Given the description of an element on the screen output the (x, y) to click on. 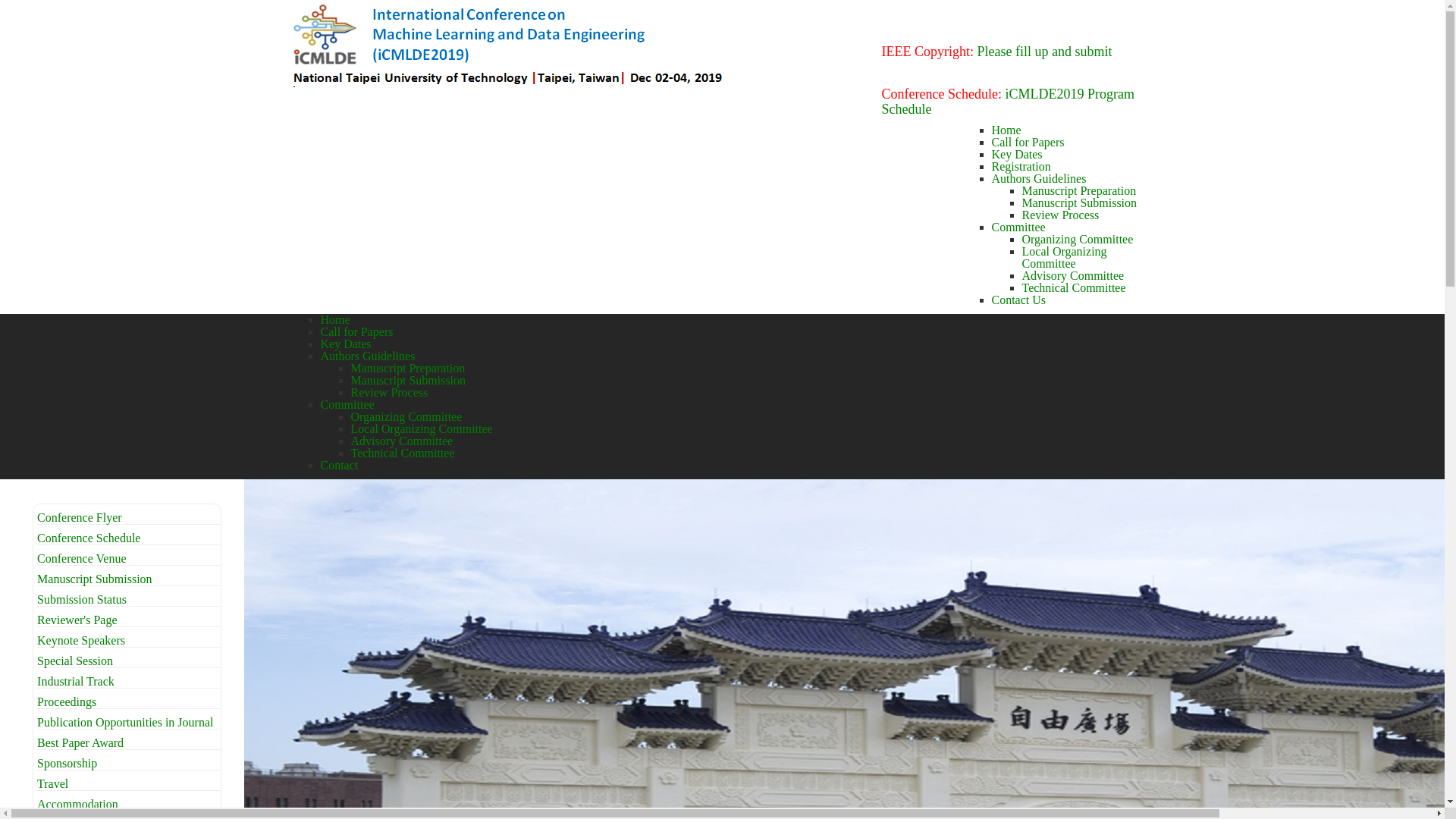
Advisory Committee Element type: text (1073, 275)
Reviewer's Page Element type: text (77, 619)
Registration Element type: text (1021, 166)
Call for Papers Element type: text (356, 331)
Technical Committee Element type: text (402, 452)
Contact Us Element type: text (1018, 299)
Manuscript Submission Element type: text (407, 379)
Industrial Track Element type: text (75, 680)
Manuscript Preparation Element type: text (407, 367)
Travel Element type: text (52, 783)
Proceedings Element type: text (66, 701)
Manuscript Preparation Element type: text (1079, 190)
Submission Status Element type: text (81, 599)
Committee Element type: text (346, 404)
Review Process Element type: text (1060, 214)
Conference Flyer Element type: text (79, 517)
Manuscript Submission Element type: text (1079, 202)
Committee Element type: text (1018, 226)
Key Dates Element type: text (1016, 153)
Key Dates Element type: text (345, 343)
Local Organizing Committee Element type: text (1064, 256)
Local Organizing Committee Element type: text (421, 428)
Advisory Committee Element type: text (401, 440)
Home Element type: text (1006, 129)
Call for Papers Element type: text (1027, 141)
Conference Venue Element type: text (81, 558)
Conference Schedule Element type: text (88, 537)
iCMLDE2019 Program Schedule Element type: text (1007, 101)
Keynote Speakers Element type: text (81, 639)
Organizing Committee Element type: text (405, 416)
Special Session Element type: text (74, 660)
Please fill up and submit Element type: text (1043, 51)
Contact Element type: text (338, 464)
Sponsorship Element type: text (67, 762)
Review Process Element type: text (388, 391)
Publication Opportunities in Journal Element type: text (125, 721)
Technical Committee Element type: text (1074, 287)
Accommodation Element type: text (77, 803)
Manuscript Submission Element type: text (94, 578)
Organizing Committee Element type: text (1077, 238)
Home Element type: text (334, 319)
Authors Guidelines Element type: text (367, 355)
Authors Guidelines Element type: text (1038, 178)
Best Paper Award Element type: text (80, 742)
